Given the description of an element on the screen output the (x, y) to click on. 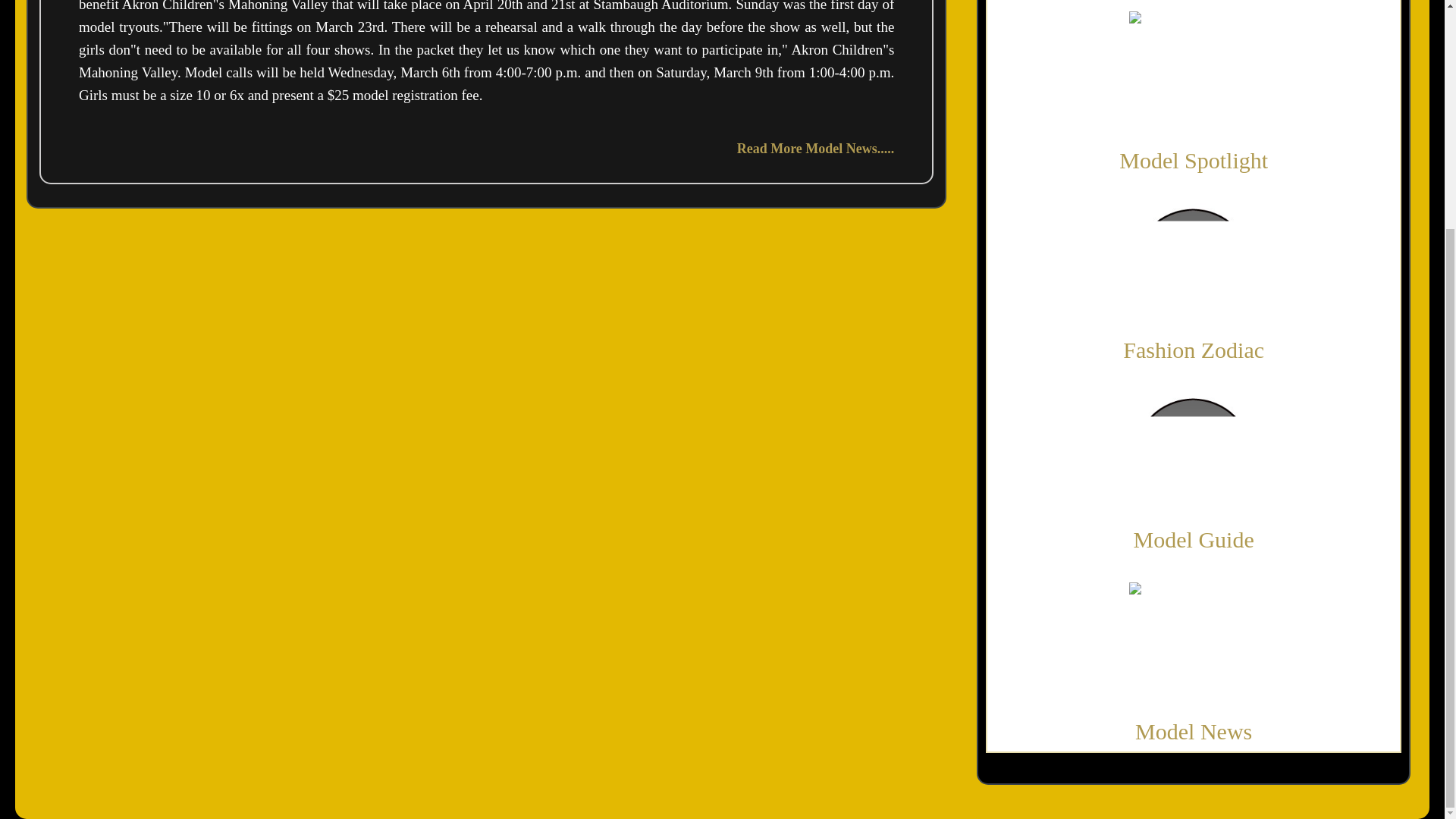
Model News (1193, 731)
Man (1193, 266)
Fashion Zodiac (1192, 349)
Read More Model News..... (815, 148)
Man (1193, 646)
Model Guide (1193, 539)
Man (1193, 456)
Model Spotlight (1193, 160)
Man (1193, 75)
